Given the description of an element on the screen output the (x, y) to click on. 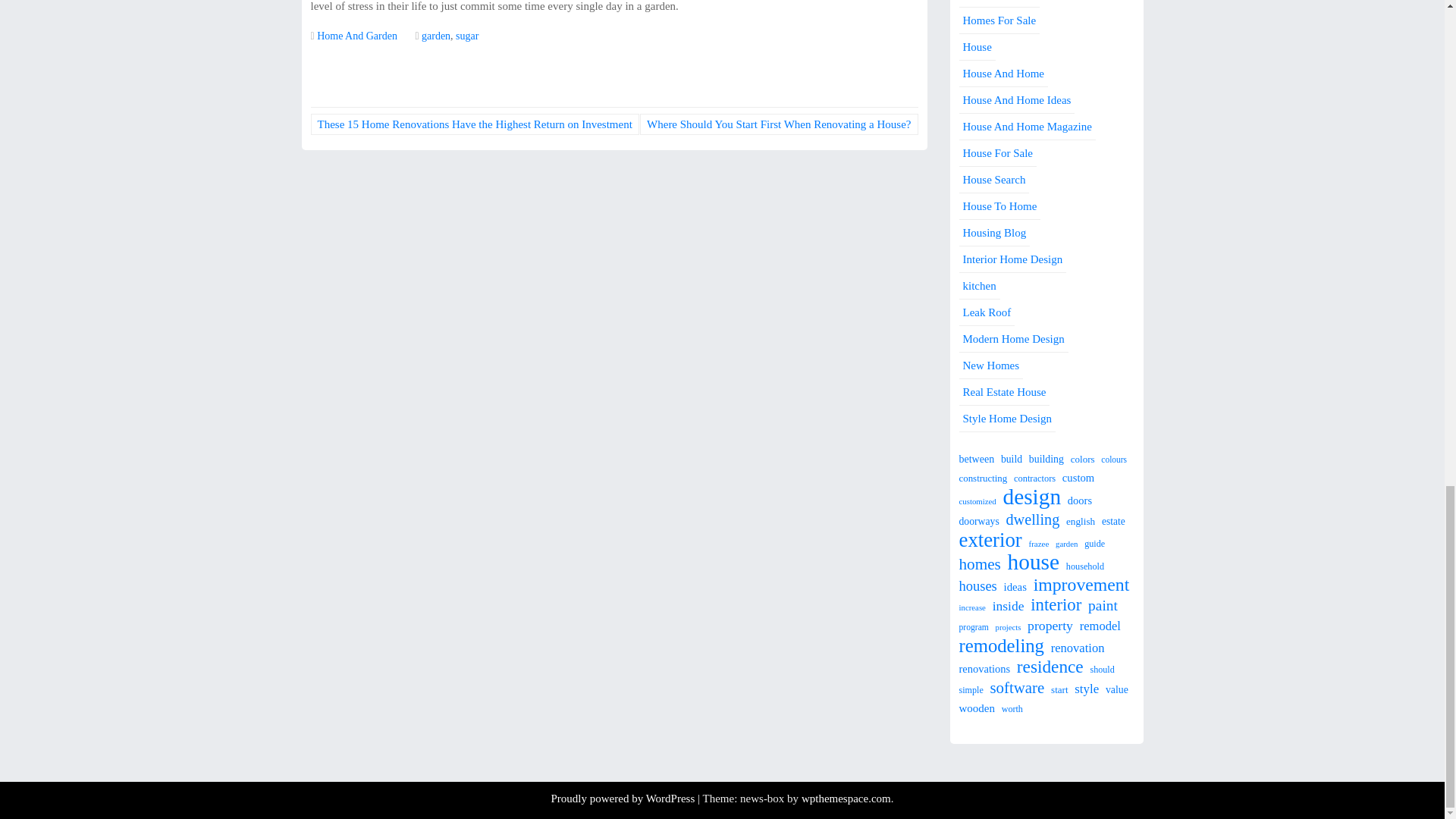
Where Should You Start First When Renovating a House? (778, 124)
sugar (467, 35)
garden (435, 35)
Home And Garden (357, 35)
